Given the description of an element on the screen output the (x, y) to click on. 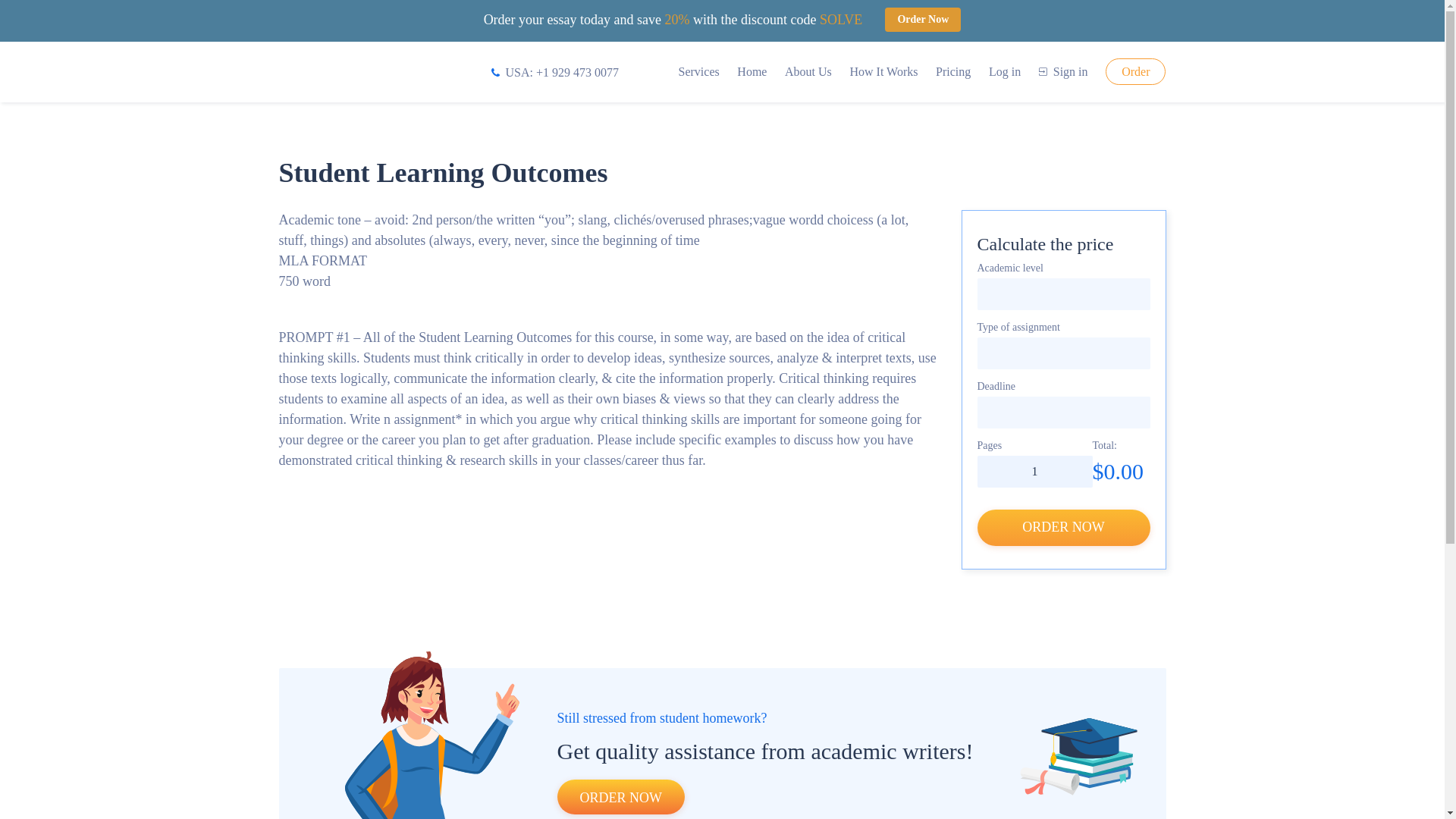
ORDER NOW (620, 796)
Sign in (1063, 71)
How It Works (882, 71)
About Us (807, 71)
Home (751, 71)
Order (1135, 71)
1 (1034, 471)
Log in (1004, 71)
Order Now (922, 19)
Pricing (953, 71)
